Given the description of an element on the screen output the (x, y) to click on. 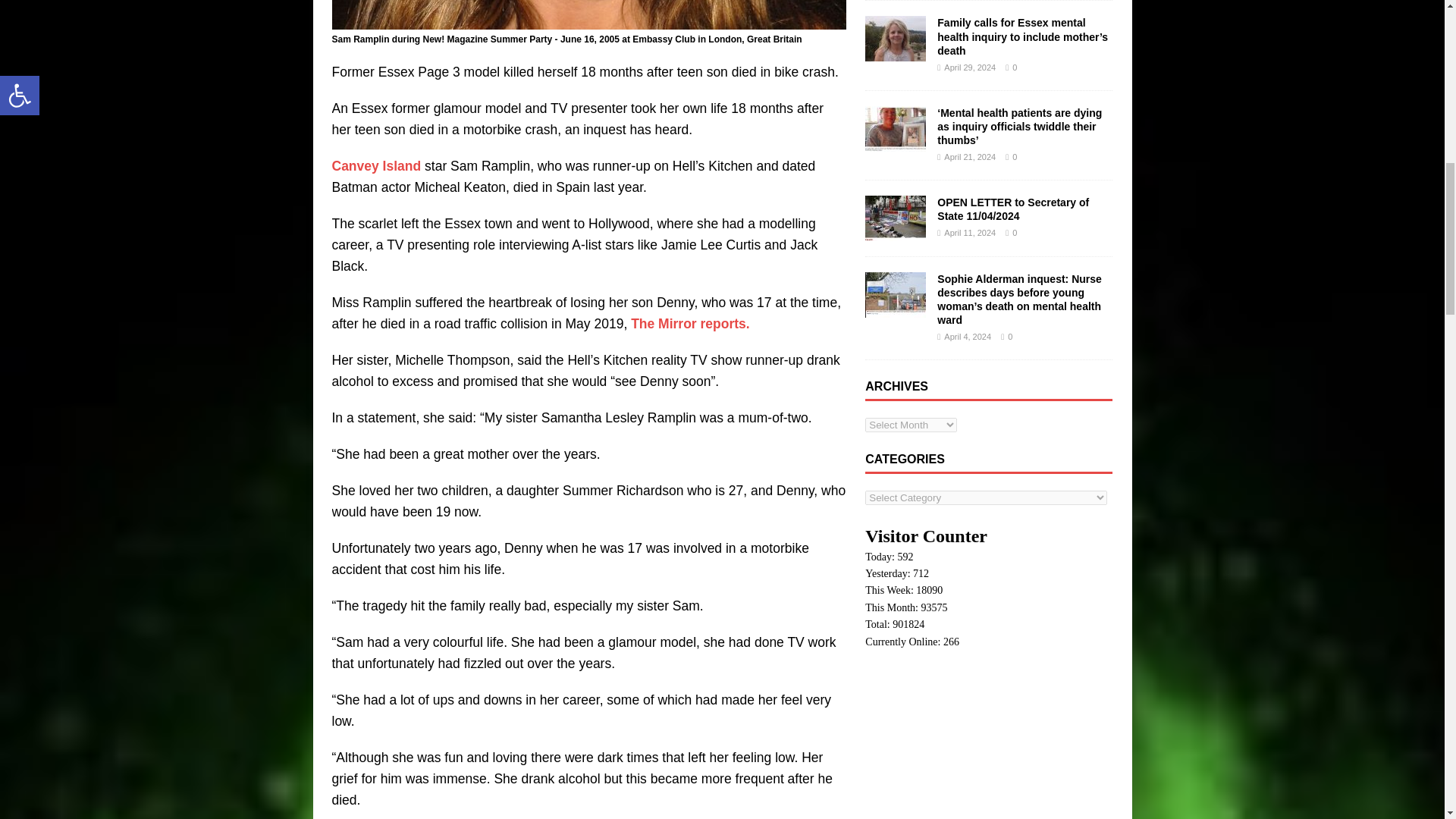
CE715170-3777-417C-90F9-2264AD31FE41 (588, 14)
